Given the description of an element on the screen output the (x, y) to click on. 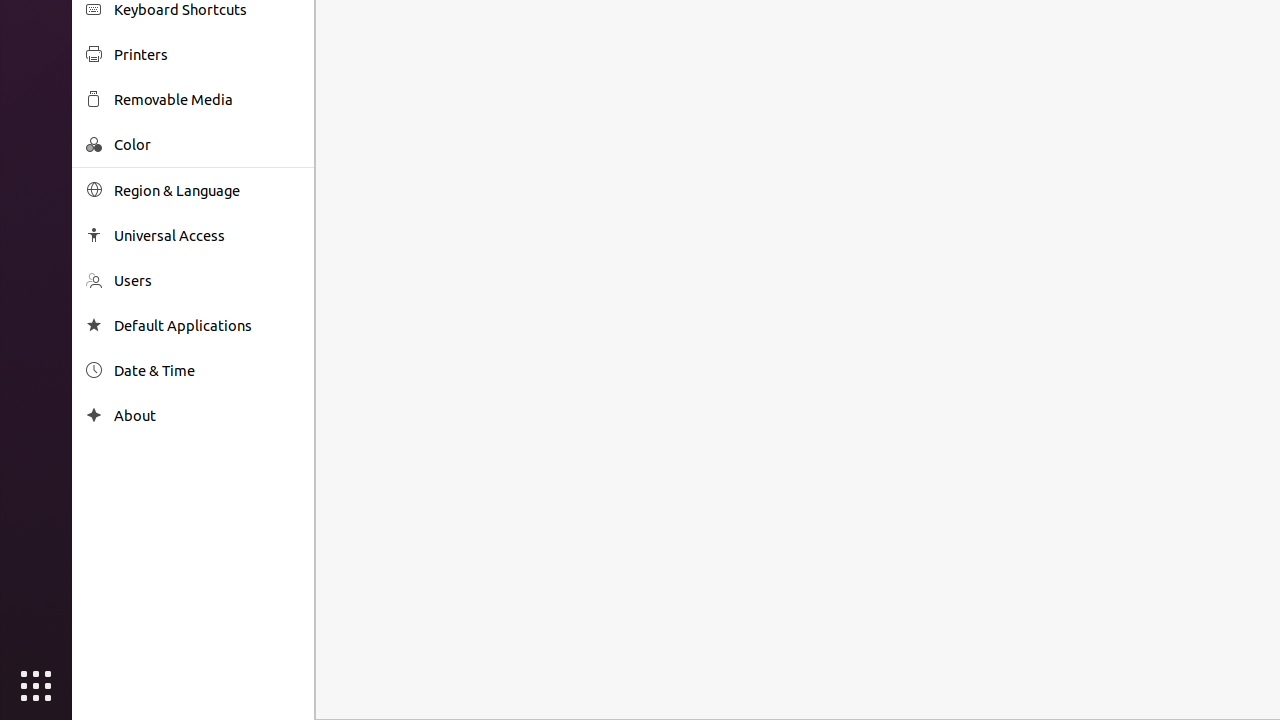
Default Applications Element type: label (207, 325)
Removable Media Element type: label (207, 99)
Region & Language Element type: label (207, 190)
Users Element type: label (207, 280)
